Given the description of an element on the screen output the (x, y) to click on. 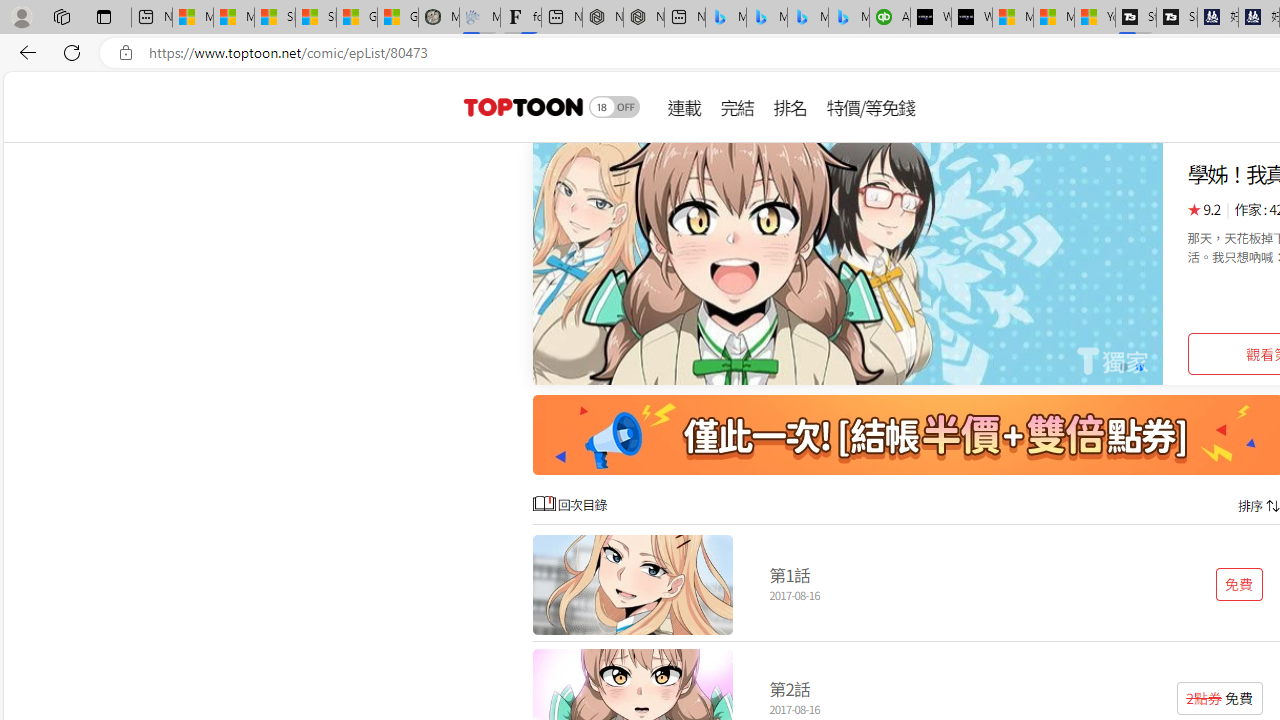
Microsoft Bing Travel - Shangri-La Hotel Bangkok (849, 17)
